Given the description of an element on the screen output the (x, y) to click on. 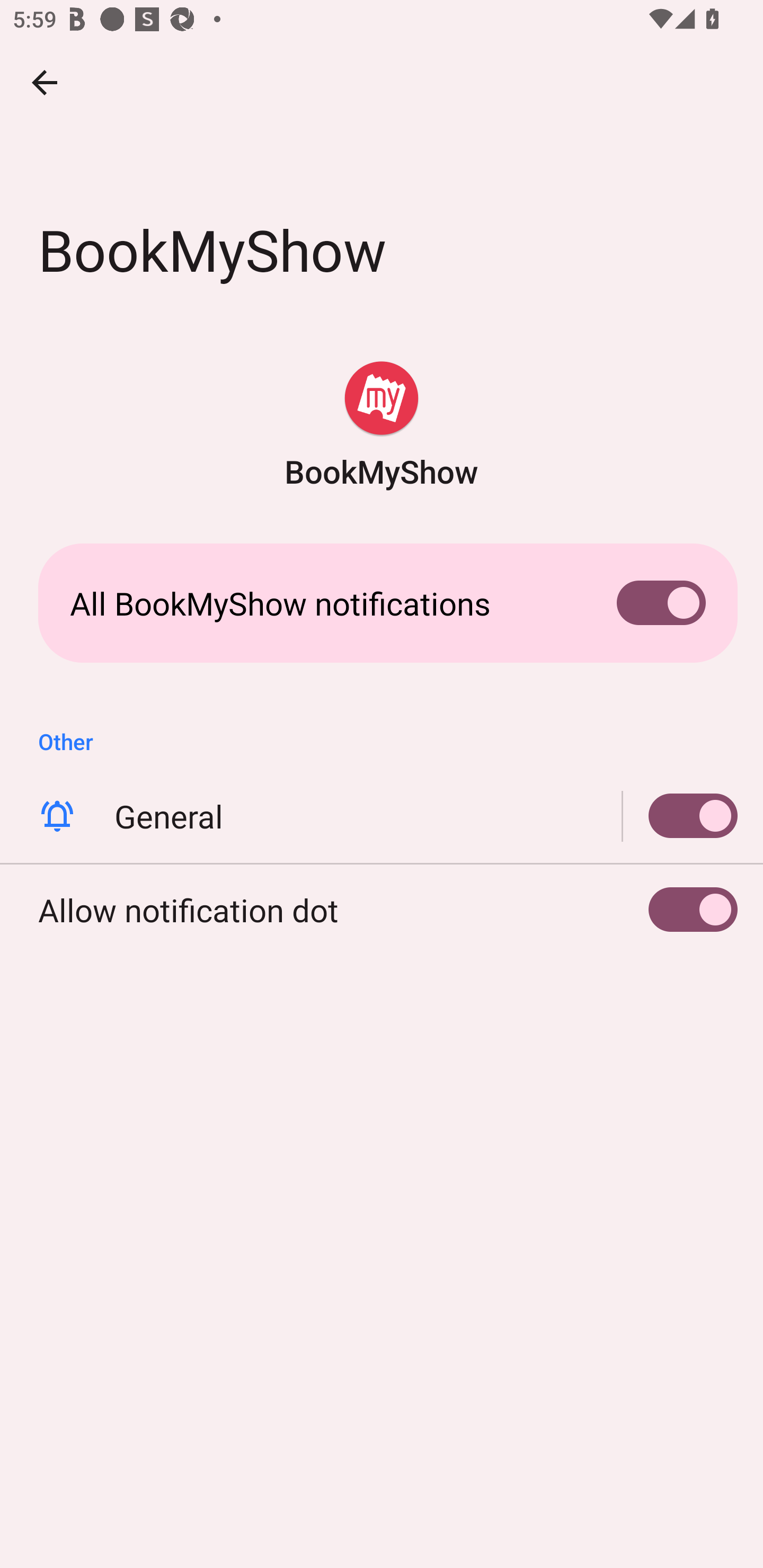
Navigate up (44, 82)
BookMyShow (381, 426)
All BookMyShow notifications (381, 602)
General (381, 815)
General (680, 815)
Allow notification dot (381, 909)
